Given the description of an element on the screen output the (x, y) to click on. 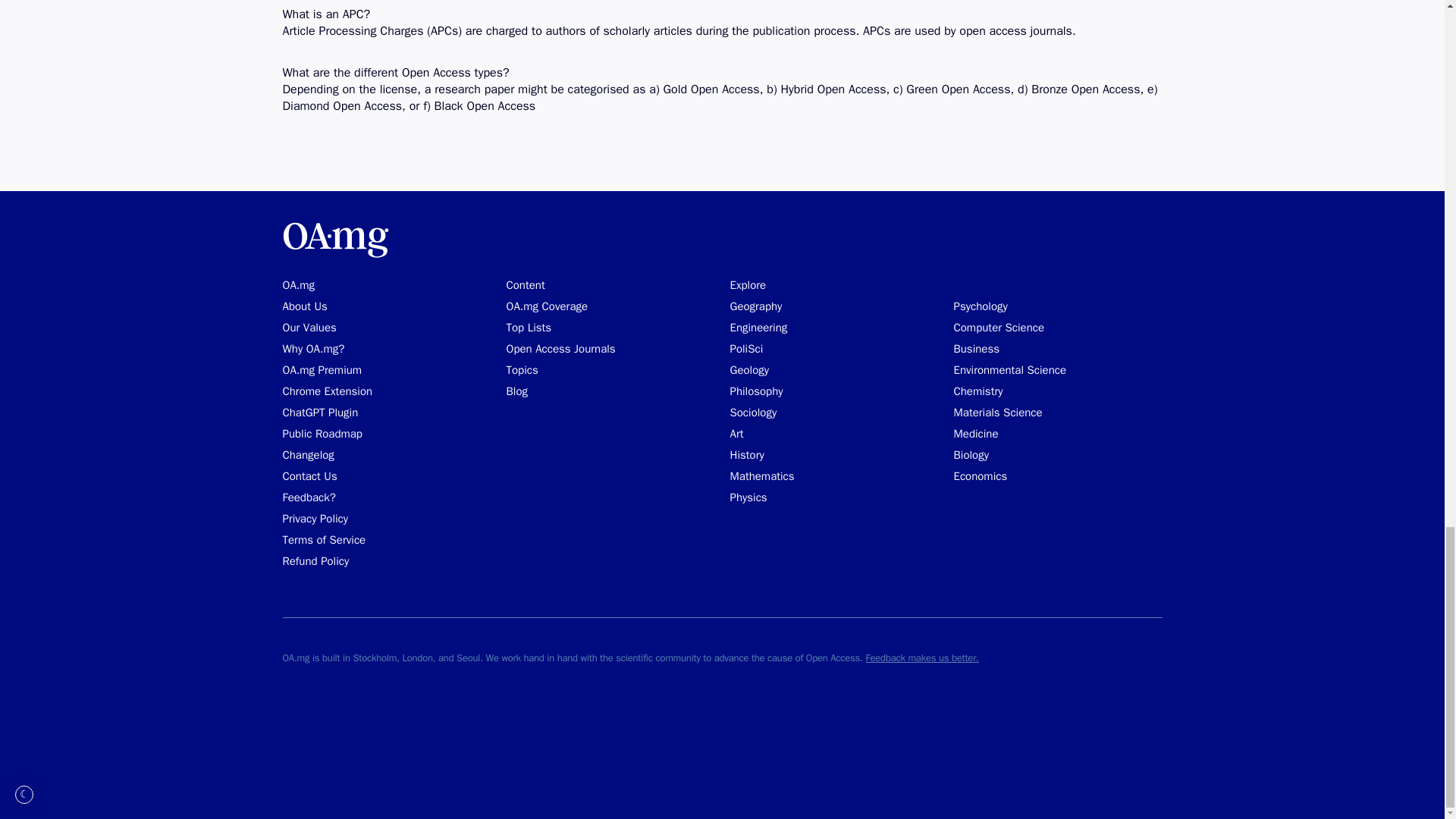
Why OA.mg? (312, 348)
About Us (304, 305)
OA.mg Premium (321, 369)
Chrome Extension (327, 391)
ChatGPT Plugin (320, 412)
Our Values (309, 327)
